Given the description of an element on the screen output the (x, y) to click on. 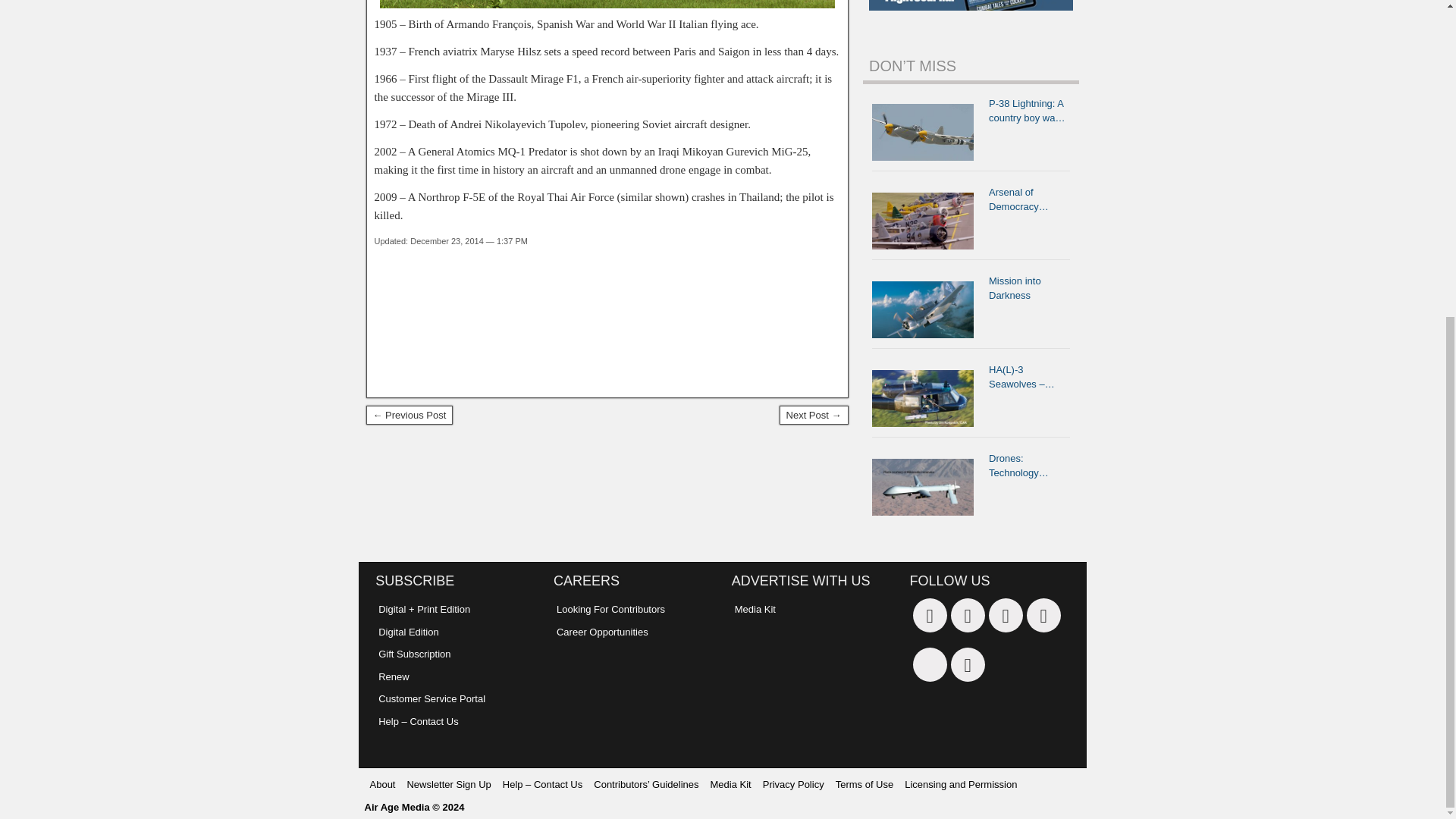
Drones: Technology Changes the Face of Combat (926, 487)
On This Day in Aviation History (606, 5)
Mission into Darkness (926, 309)
P-38 Lightning: A country boy way out of his element (926, 131)
USAF to Inactivate Two C-17 Squadrons (408, 415)
Red Baron Stearman Returns to the Air (813, 415)
Arsenal of Democracy Flyover (926, 221)
